Given the description of an element on the screen output the (x, y) to click on. 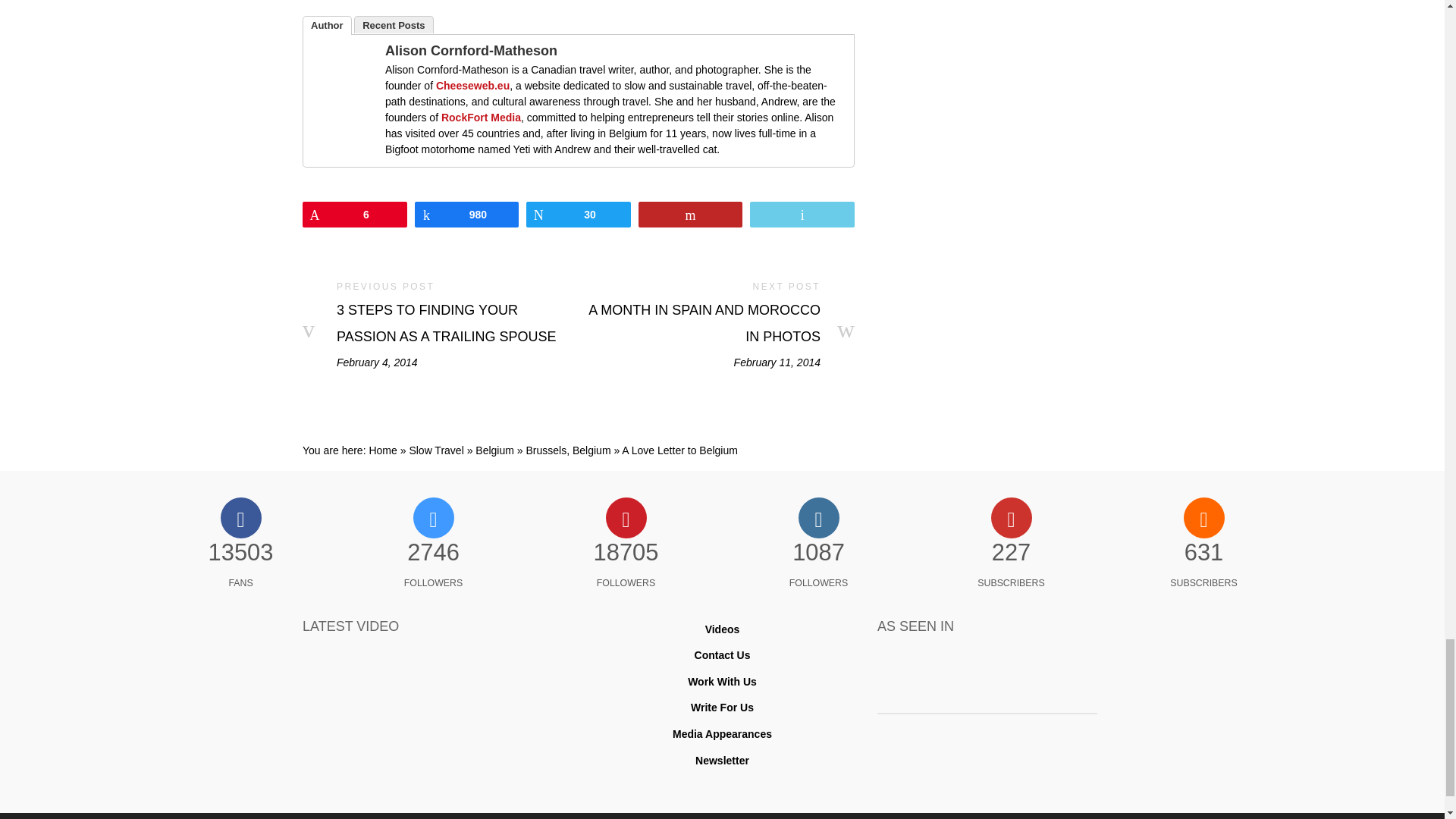
Home (382, 450)
Videos (721, 629)
Go to Brussels, Belgium (568, 450)
Contact Us (722, 654)
Go to Slow Travel (436, 450)
Go to Belgium (494, 450)
